Given the description of an element on the screen output the (x, y) to click on. 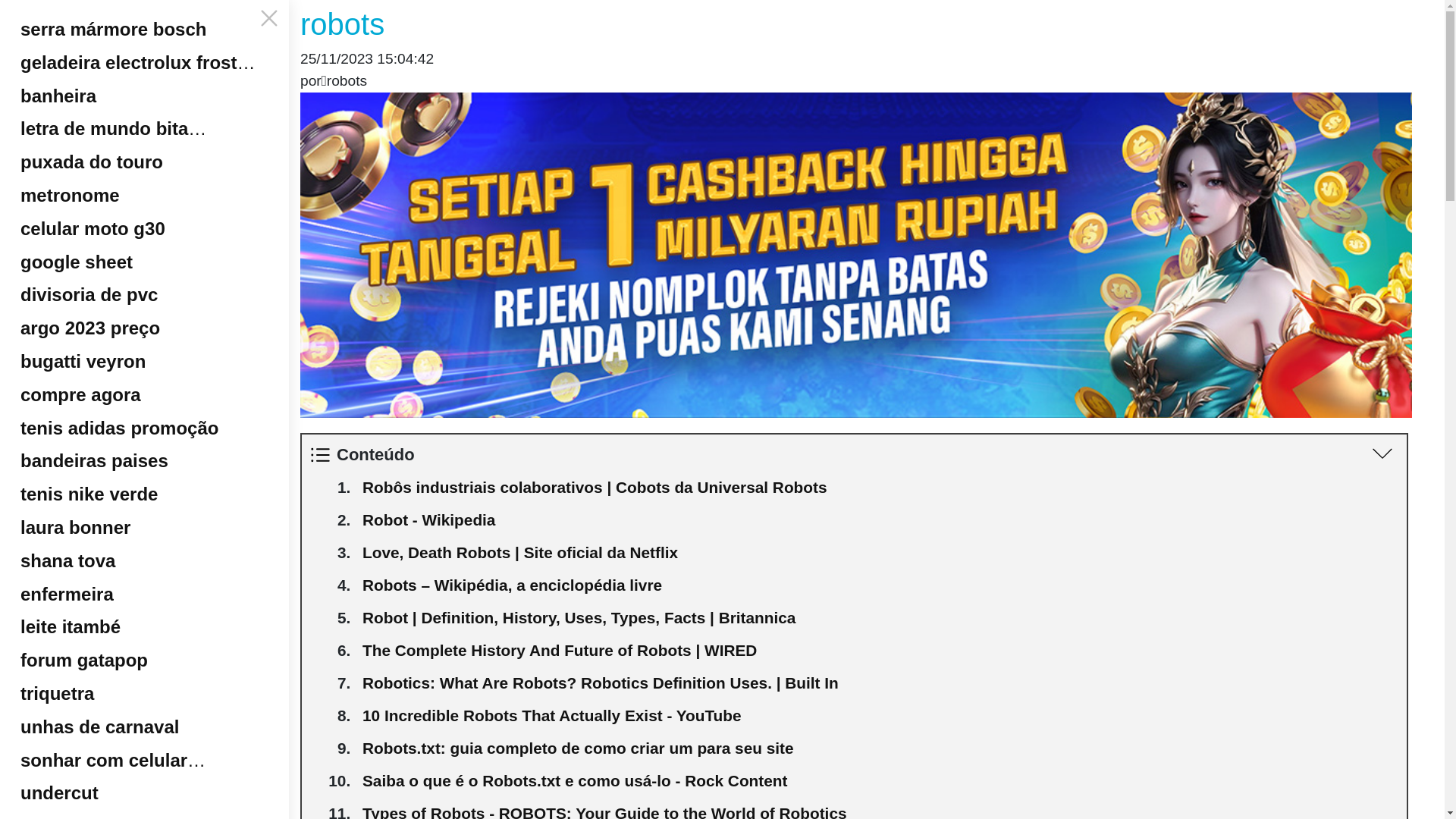
Robot - Wikipedia Element type: text (880, 523)
forum gatapop Element type: text (144, 654)
shana tova Element type: text (144, 555)
tenis nike verde Element type: text (144, 488)
10 Incredible Robots That Actually Exist - YouTube Element type: text (880, 718)
unhas de carnaval Element type: text (144, 721)
enfermeira Element type: text (144, 588)
robots Element type: hover (853, 255)
triquetra Element type: text (144, 688)
puxada do touro Element type: text (144, 156)
geladeira electrolux frost free inox Element type: text (144, 57)
metronome Element type: text (144, 190)
The Complete History And Future of Robots | WIRED Element type: text (880, 653)
robots Element type: text (854, 24)
Love, Death Robots | Site oficial da Netflix Element type: text (880, 555)
Robots.txt: guia completo de como criar um para seu site Element type: text (880, 751)
letra de mundo bita fazendinha Element type: text (144, 123)
sonhar com celular quebrado Element type: text (144, 754)
bandeiras paises Element type: text (144, 455)
bugatti veyron Element type: text (144, 356)
Robot | Definition, History, Uses, Types, Facts | Britannica Element type: text (880, 621)
laura bonner Element type: text (144, 522)
compre agora Element type: text (144, 389)
celular moto g30 Element type: text (144, 223)
undercut Element type: text (144, 787)
divisoria de pvc Element type: text (144, 289)
banheira Element type: text (144, 90)
google sheet Element type: text (144, 256)
